Given the description of an element on the screen output the (x, y) to click on. 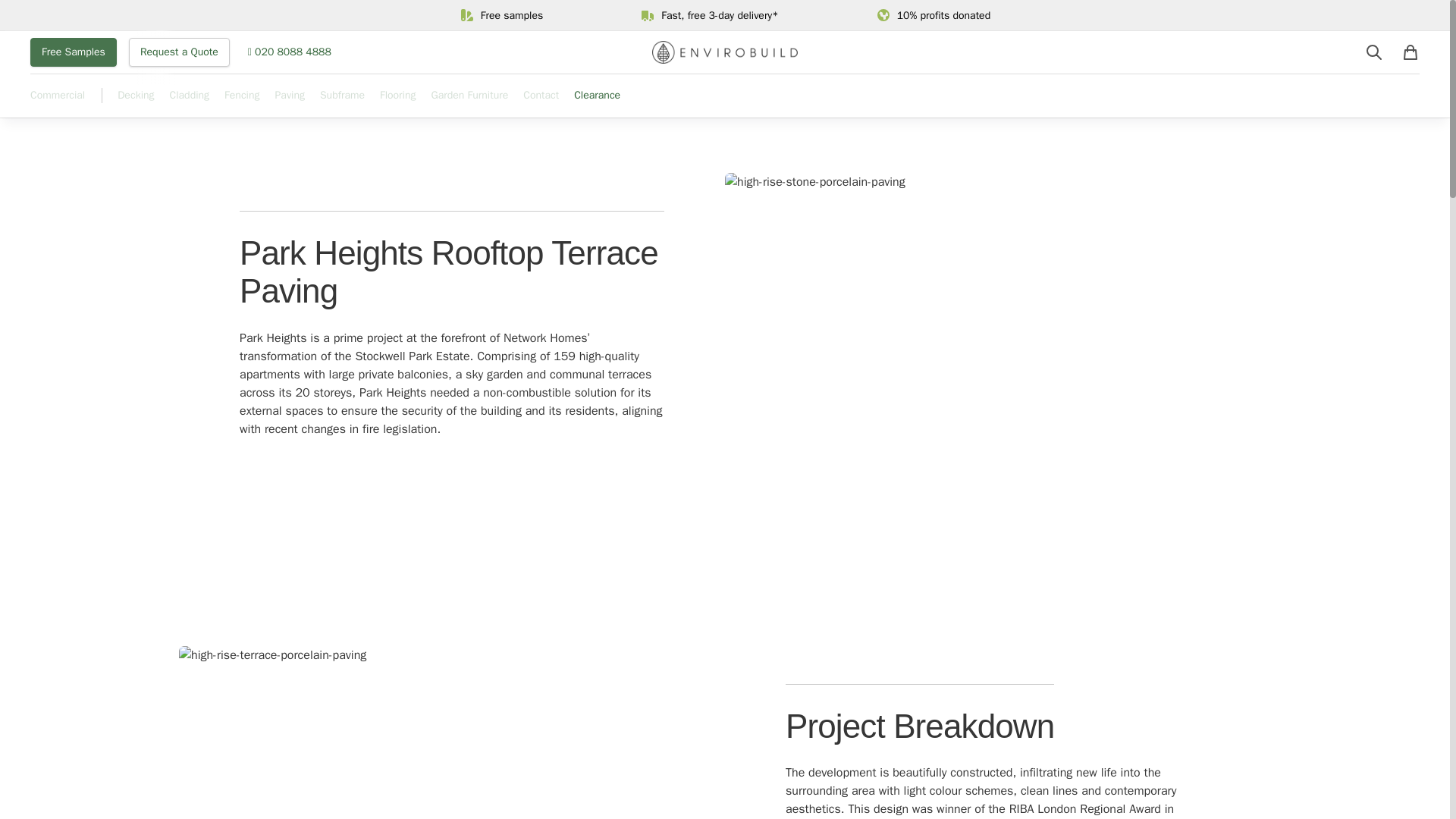
Paving (289, 95)
Commercial (57, 102)
Paving (289, 102)
Search (1374, 52)
Flooring (398, 95)
Cladding (189, 95)
Flooring (398, 102)
Request a Quote (179, 51)
Free Samples (73, 51)
Subframe (342, 102)
